Given the description of an element on the screen output the (x, y) to click on. 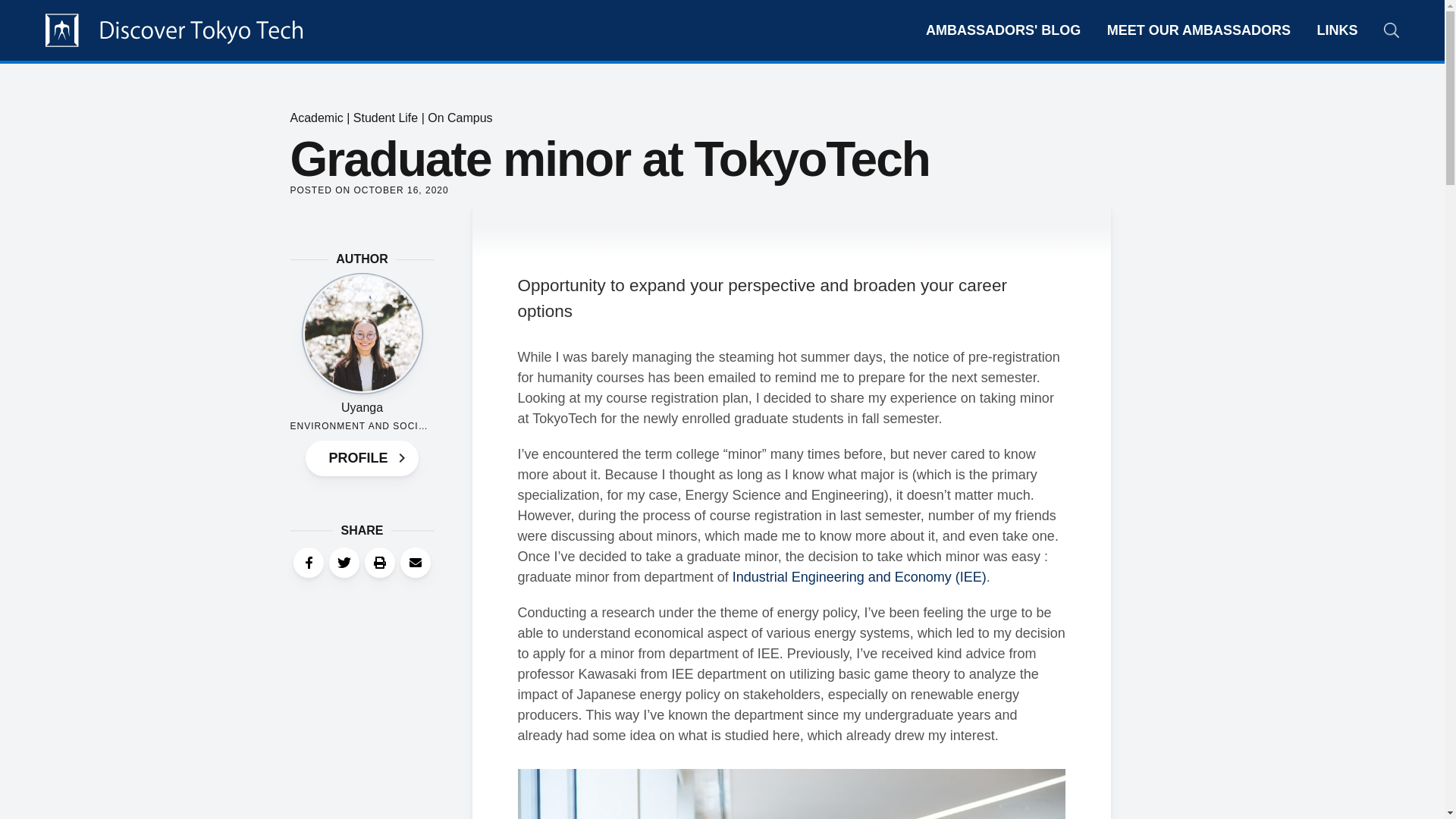
AMBASSADORS' BLOG (1003, 29)
Uyanga (361, 407)
LINKS (1337, 29)
MEET OUR AMBASSADORS (1198, 29)
PROFILE (361, 457)
